Given the description of an element on the screen output the (x, y) to click on. 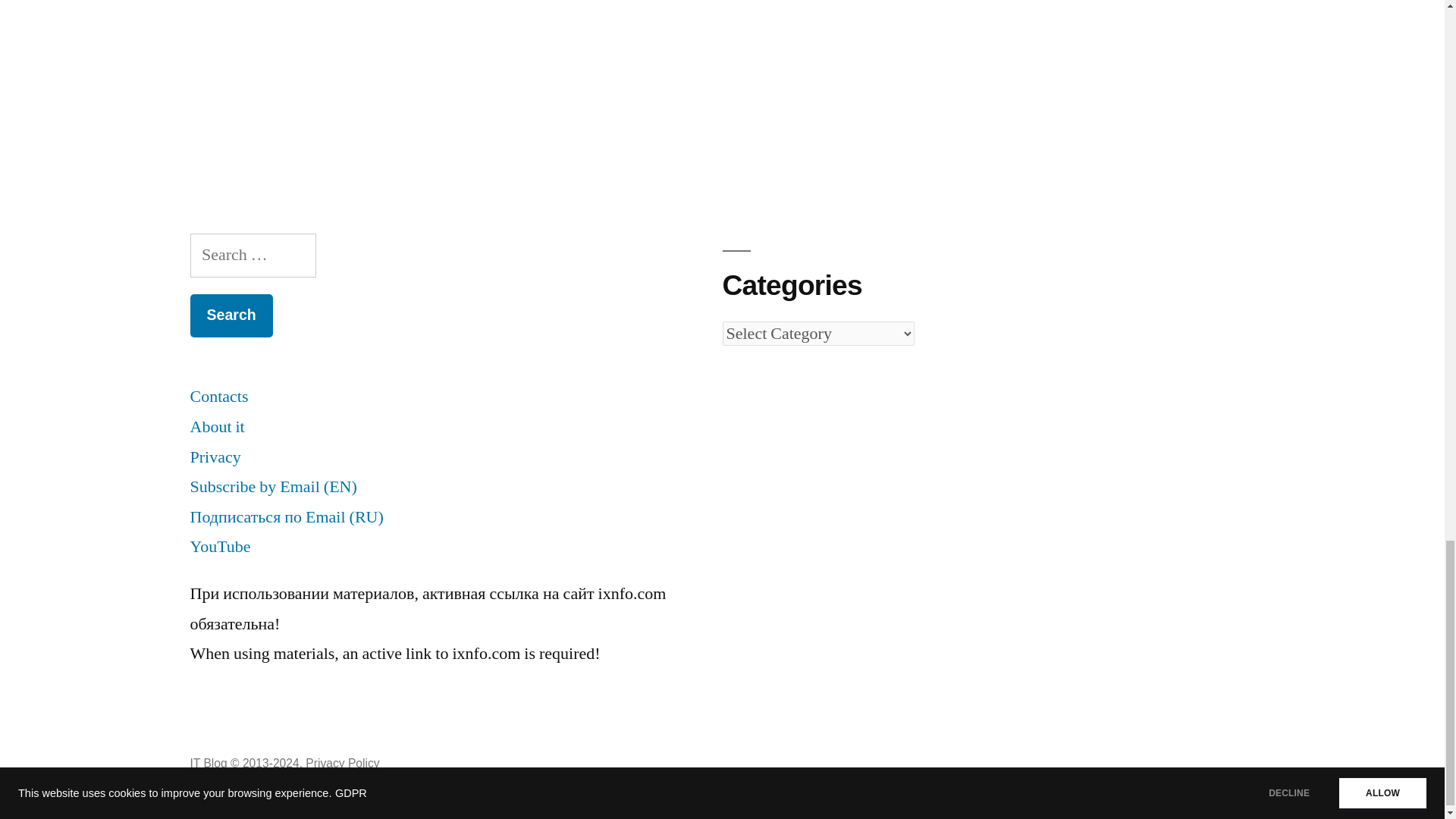
Privacy Policy (341, 762)
Contacts (218, 396)
YouTube (219, 546)
Privacy (214, 456)
Search (230, 315)
Search (230, 315)
About it (216, 426)
Search (230, 315)
IT Blog (208, 762)
